Given the description of an element on the screen output the (x, y) to click on. 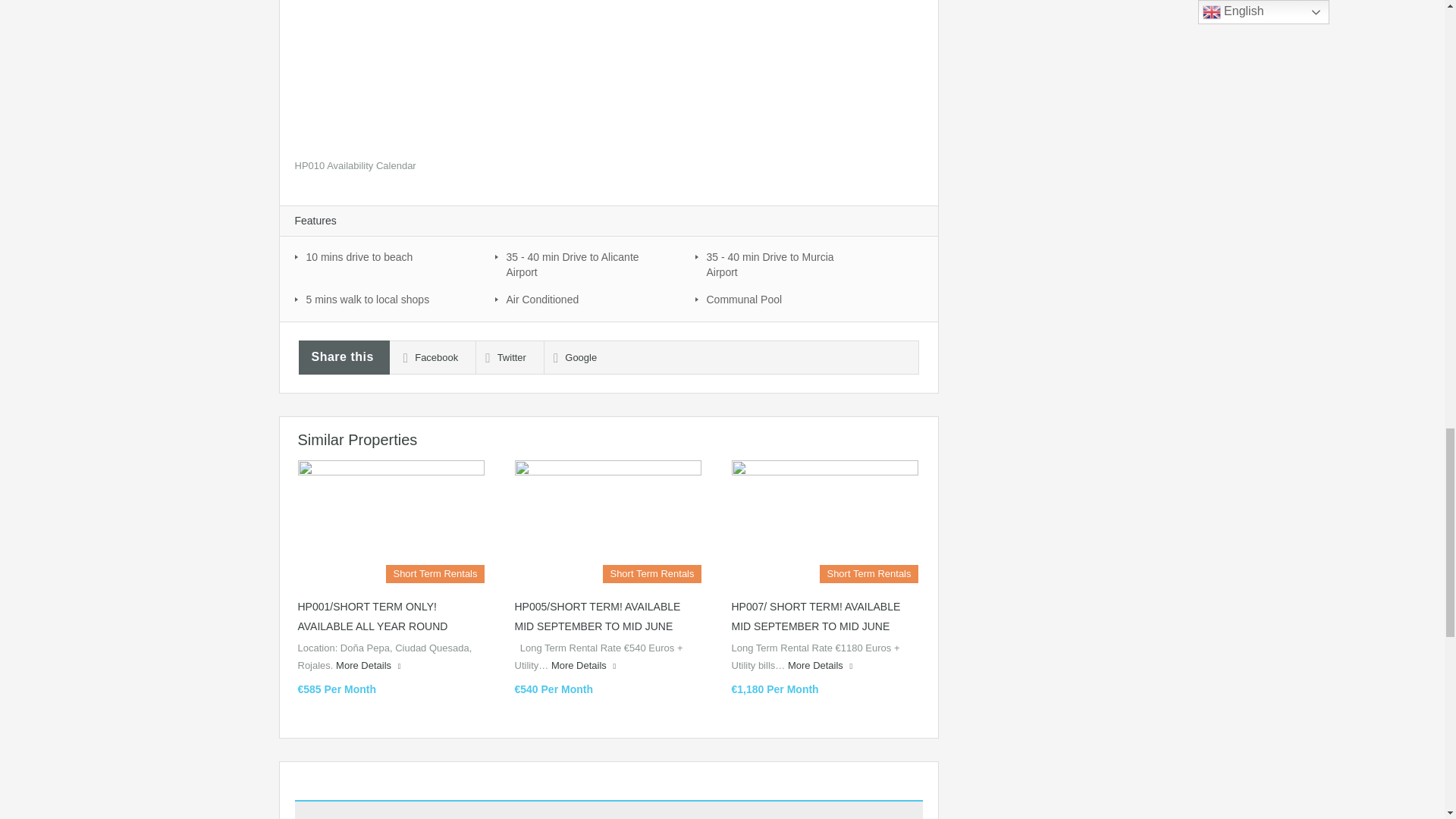
Facebook (426, 357)
Air Conditioned (586, 299)
HP010 Availability Calendar (354, 165)
35 - 40 min Drive to Alicante Airport (586, 264)
10 mins drive to beach (386, 257)
5 mins walk to local shops (386, 299)
35 - 40 min Drive to Murcia Airport (786, 264)
Communal Pool (786, 299)
